Given the description of an element on the screen output the (x, y) to click on. 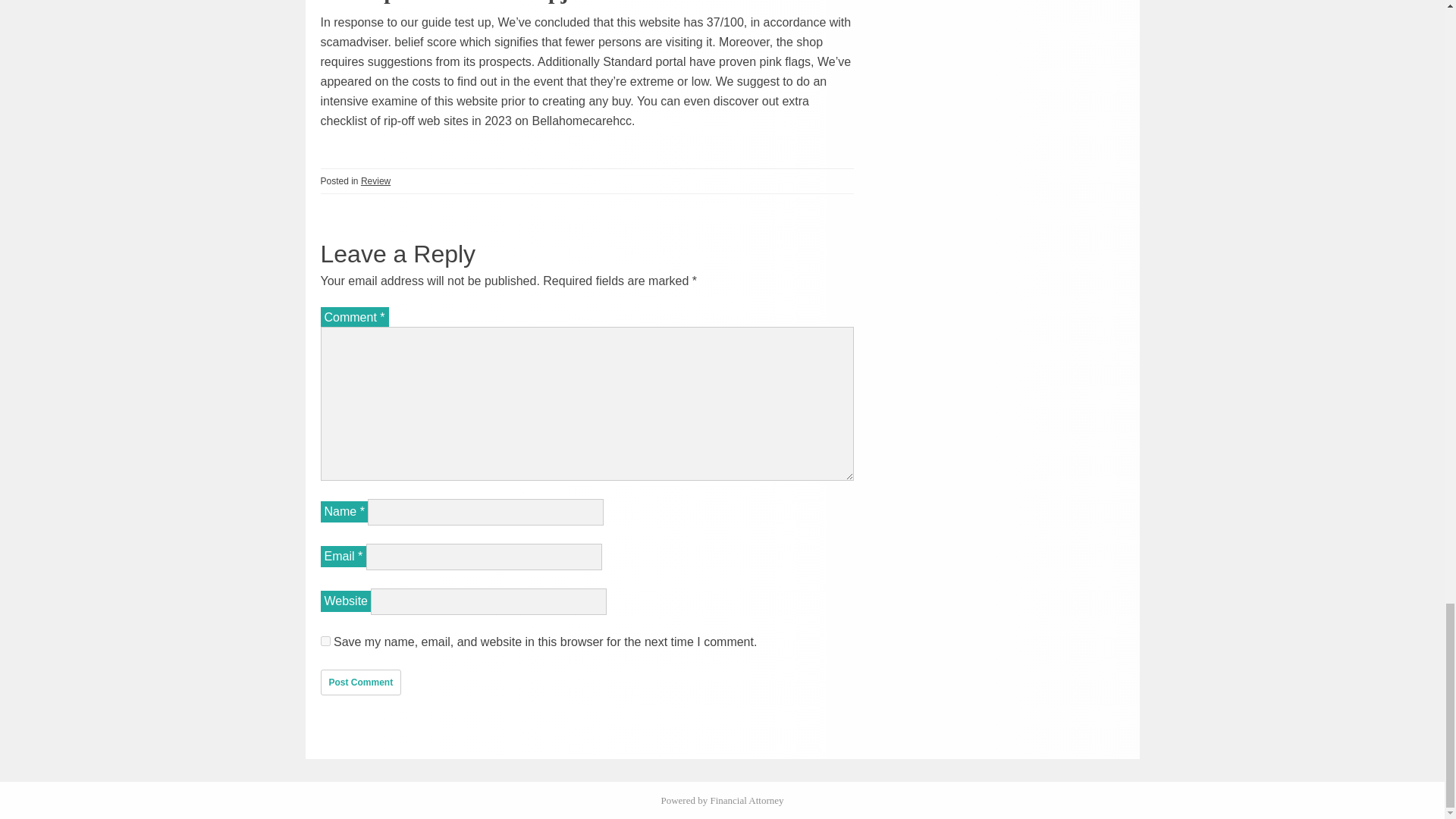
Post Comment (360, 682)
Post Comment (360, 682)
yes (325, 641)
Review (375, 180)
